Given the description of an element on the screen output the (x, y) to click on. 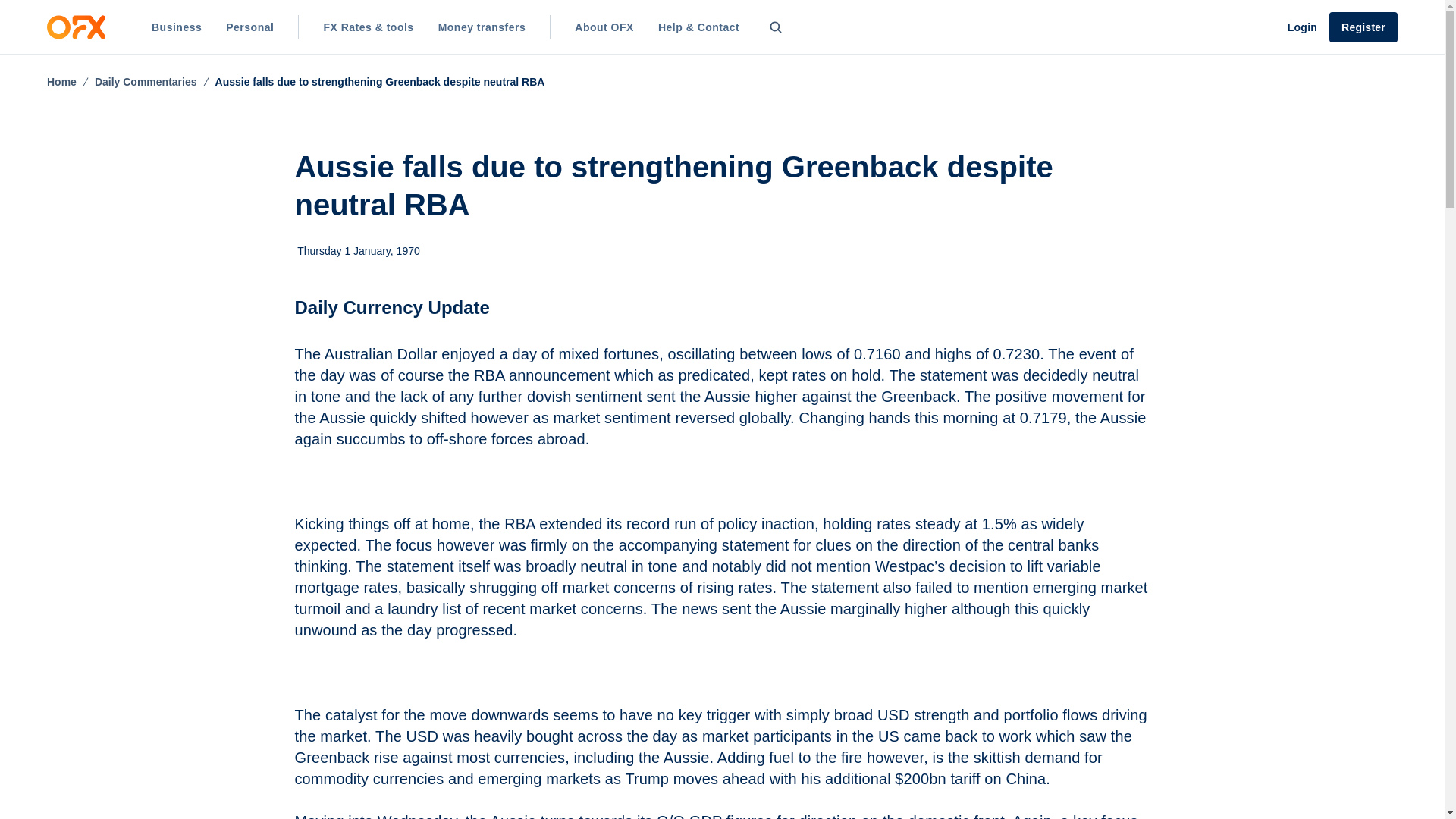
Business (176, 27)
Personal (249, 27)
